Given the description of an element on the screen output the (x, y) to click on. 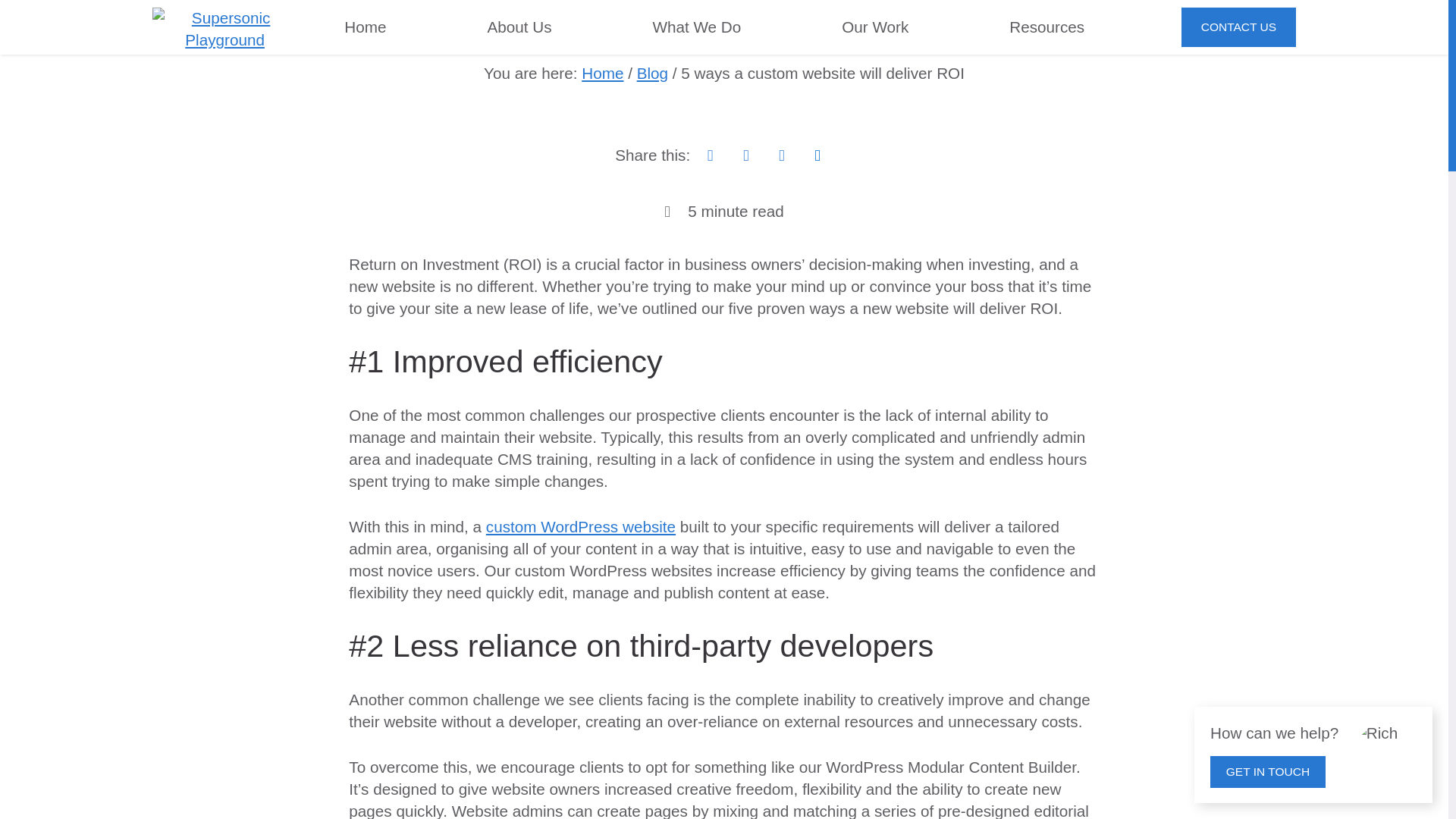
About Us (518, 27)
Our Work (875, 27)
Resources (1046, 27)
CONTACT US (1237, 26)
What We Do (695, 27)
